Given the description of an element on the screen output the (x, y) to click on. 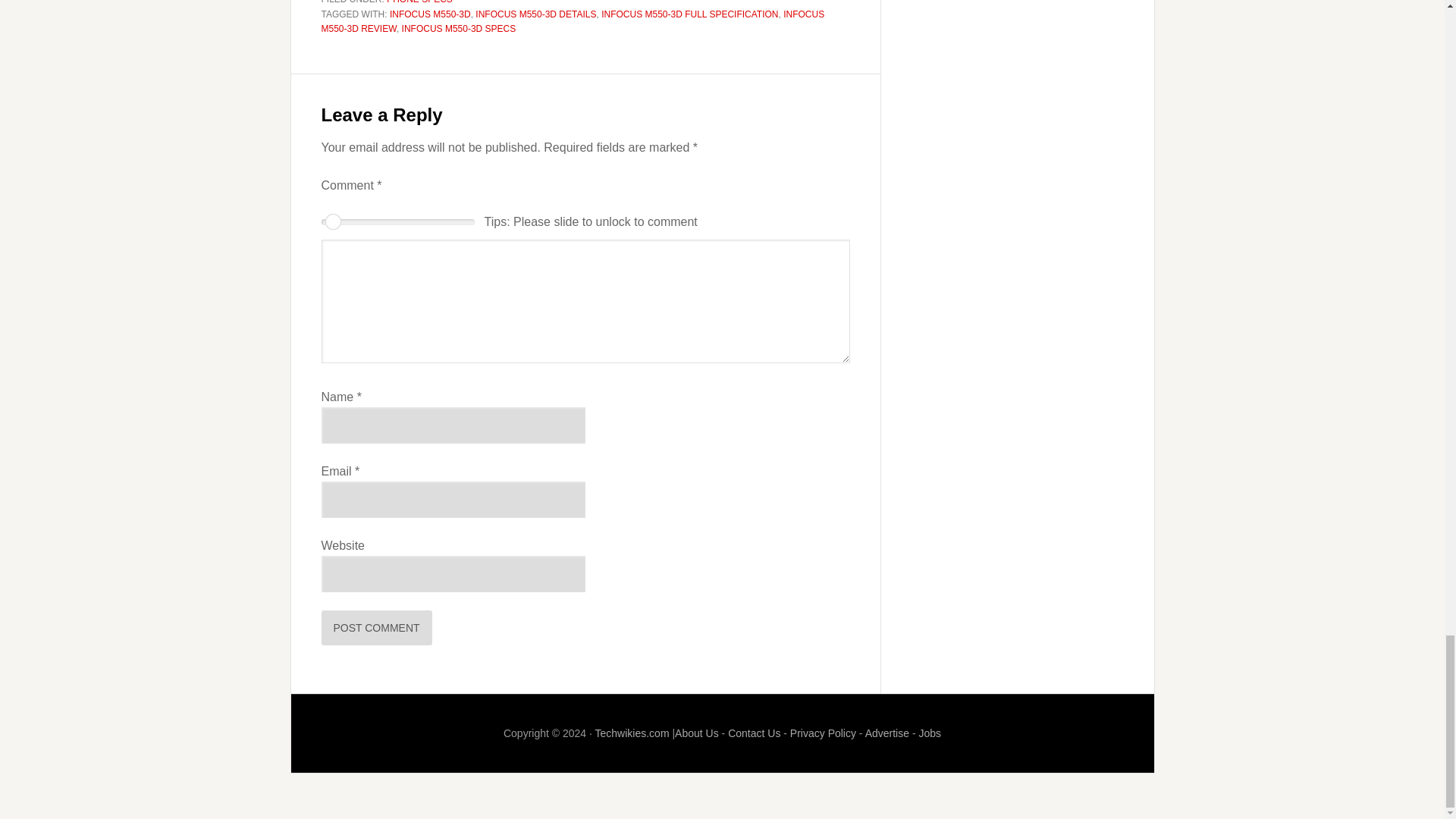
Post Comment (376, 627)
INFOCUS M550-3D FULL SPECIFICATION (689, 14)
INFOCUS M550-3D SPECS (458, 28)
PHONE SPECS (419, 2)
INFOCUS M550-3D REVIEW (573, 22)
INFOCUS M550-3D DETAILS (535, 14)
Post Comment (376, 627)
INFOCUS M550-3D (430, 14)
